Given the description of an element on the screen output the (x, y) to click on. 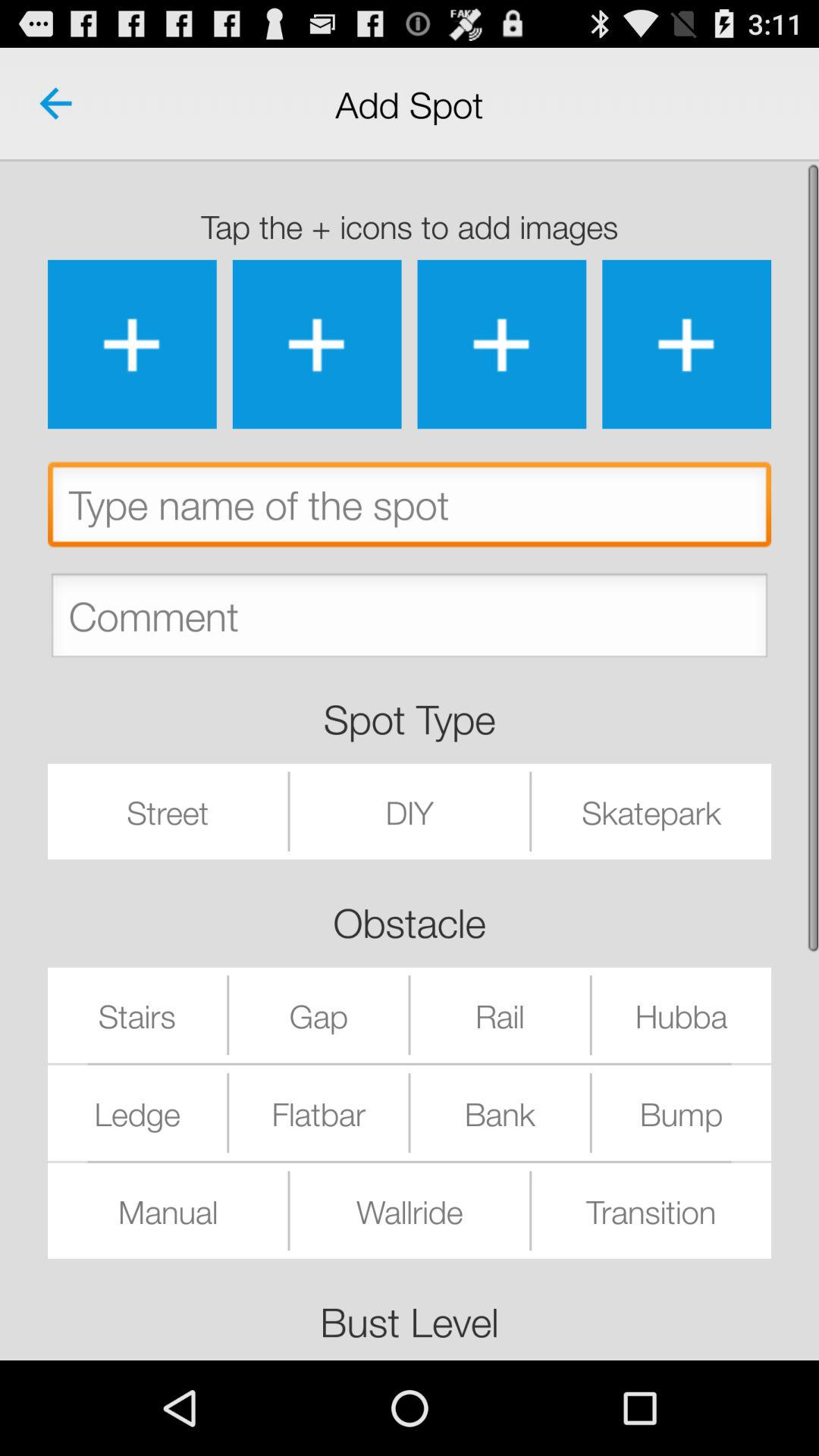
type name of spot (409, 508)
